Given the description of an element on the screen output the (x, y) to click on. 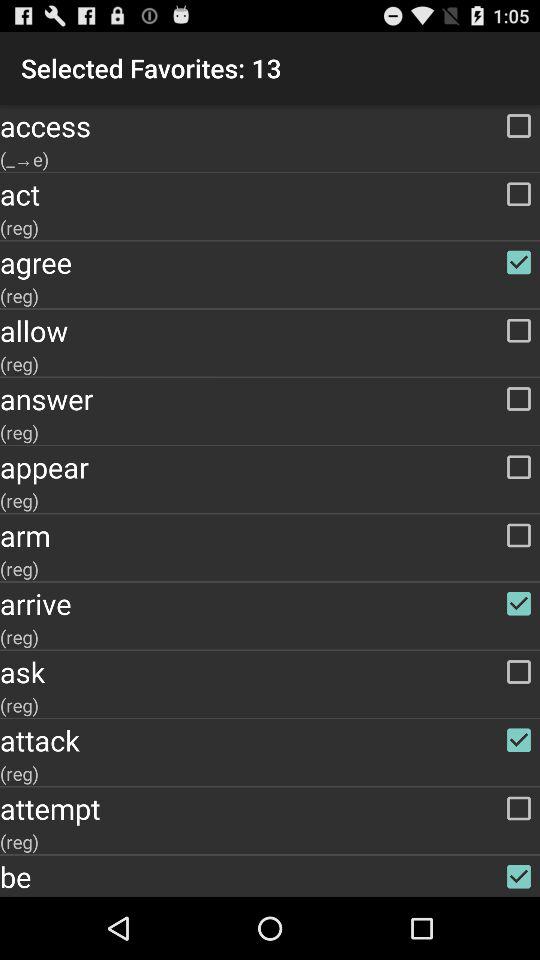
turn off item below (reg)  app (270, 330)
